Given the description of an element on the screen output the (x, y) to click on. 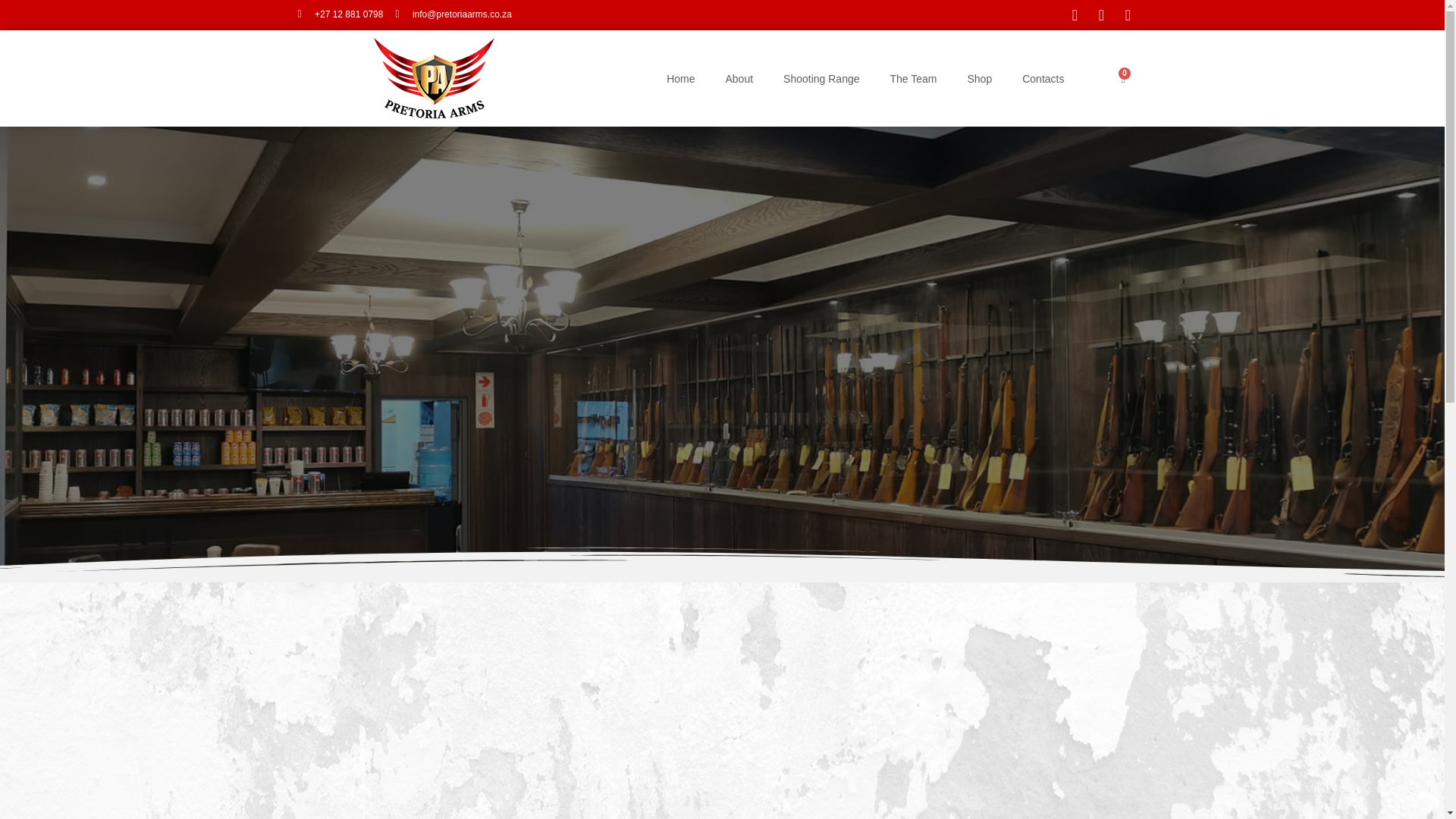
About (739, 77)
The Team (913, 77)
Home (680, 77)
Shop (979, 77)
0 (1122, 78)
Shooting Range (821, 77)
Contacts (1042, 77)
